Given the description of an element on the screen output the (x, y) to click on. 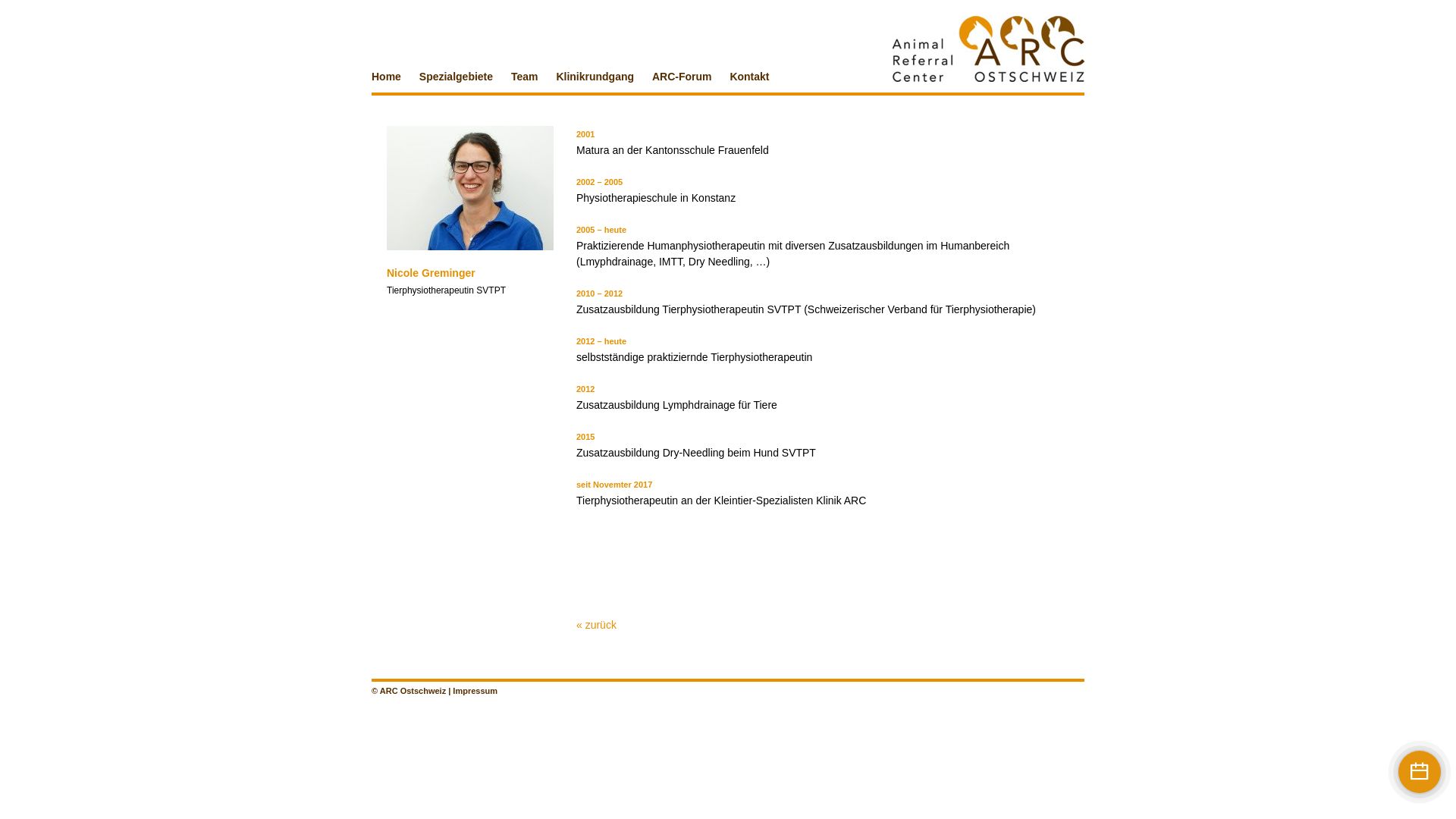
Home Element type: text (386, 76)
Kontakt Element type: text (748, 76)
Spezialgebiete Element type: text (455, 76)
Impressum Element type: text (474, 690)
Klinikrundgang Element type: text (594, 76)
ARC-Forum Element type: text (682, 76)
Team Element type: text (524, 76)
